Given the description of an element on the screen output the (x, y) to click on. 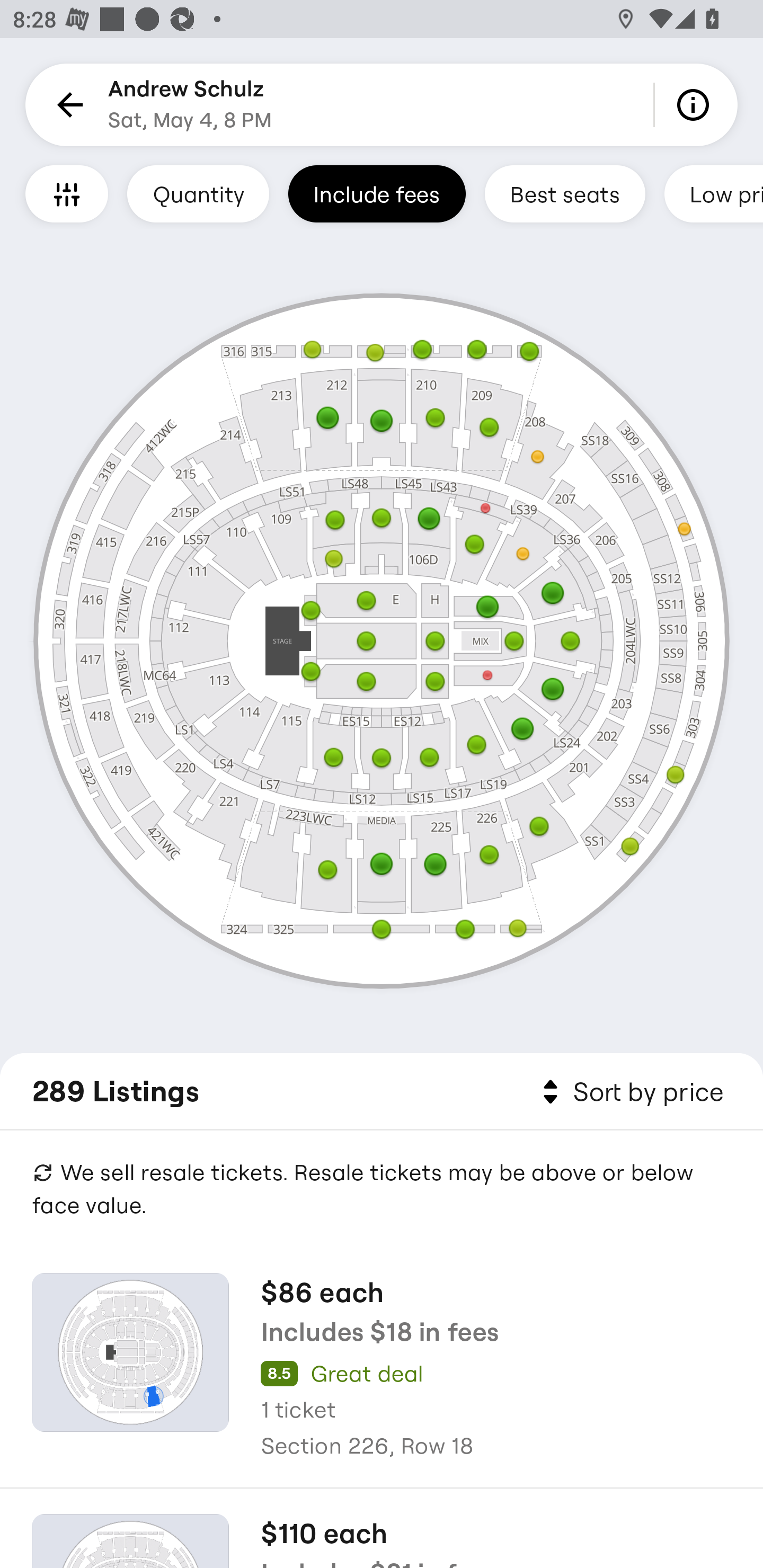
Back (66, 104)
Andrew Schulz Sat, May 4, 8 PM (190, 104)
Info (695, 104)
Filters and Accessible Seating (66, 193)
Quantity (198, 193)
Include fees (376, 193)
Best seats (564, 193)
Low prices (713, 193)
Sort by price (629, 1091)
